Given the description of an element on the screen output the (x, y) to click on. 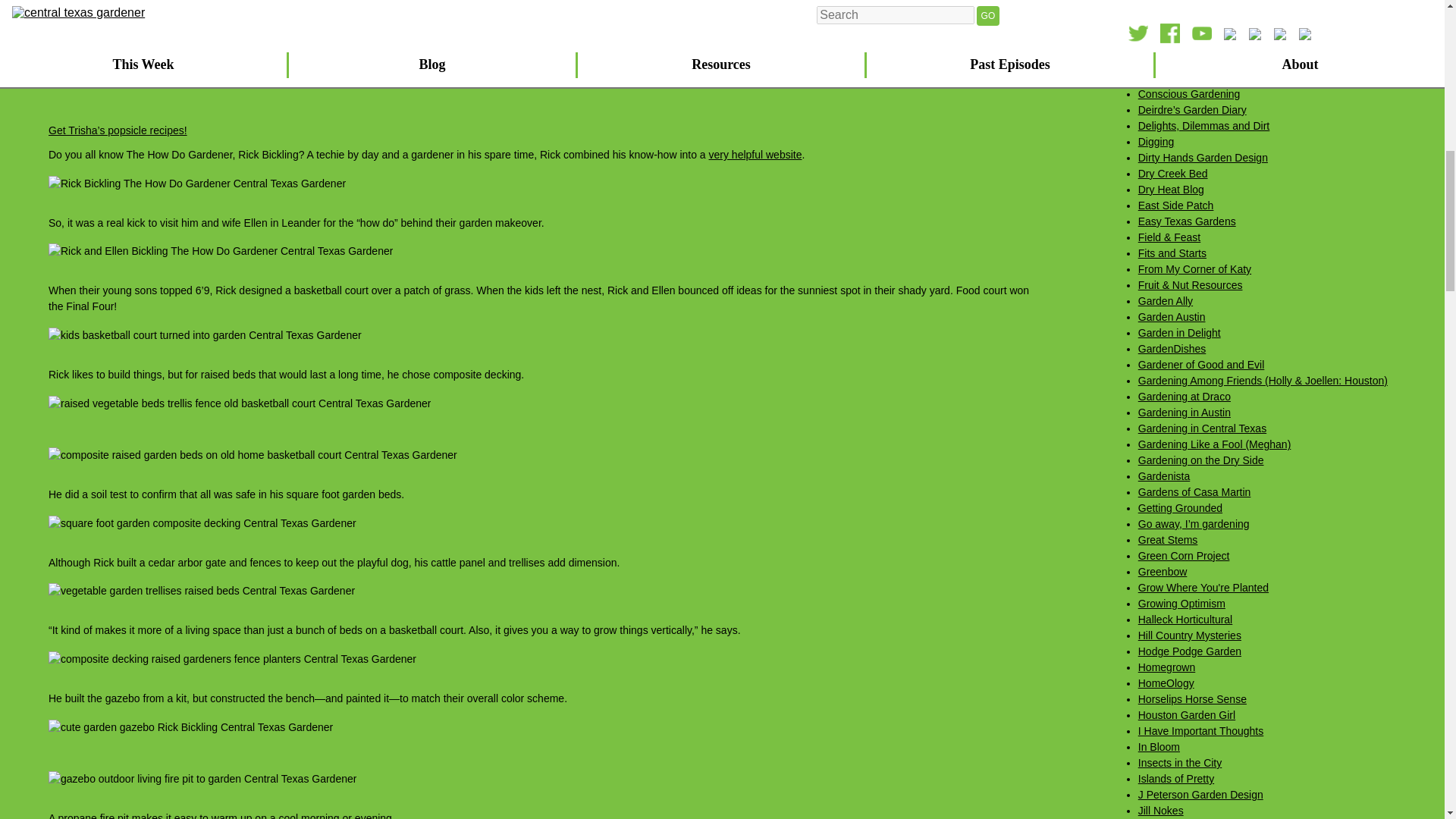
to keep your bougainvillea blooming (261, 29)
very helpful website (755, 154)
Watch now. (785, 53)
